Given the description of an element on the screen output the (x, y) to click on. 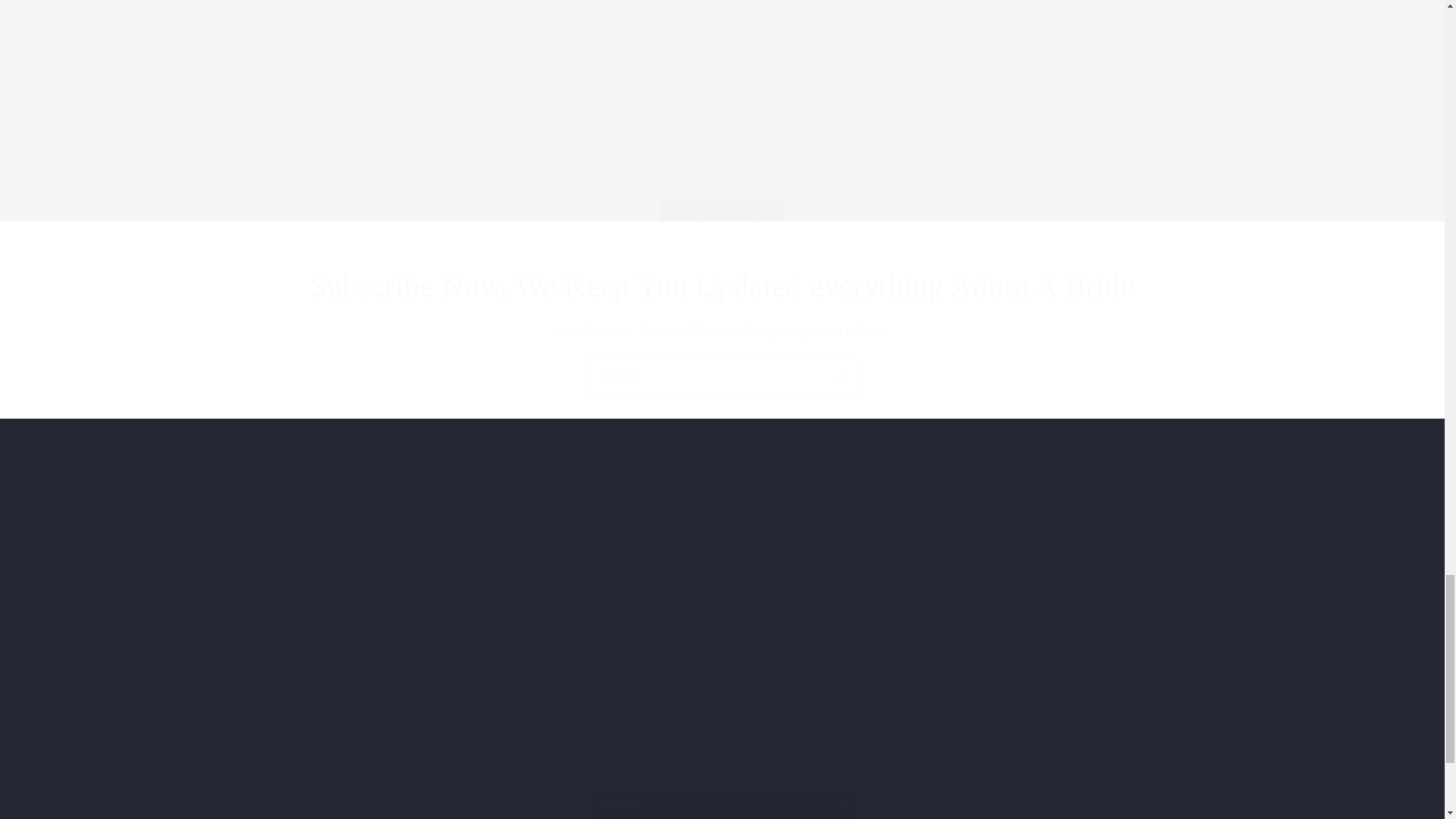
Frequently  Asked Question (721, 786)
Email (926, 154)
Subscribe Now, We Keep You Updated everything Adorn A Bride (722, 375)
